Given the description of an element on the screen output the (x, y) to click on. 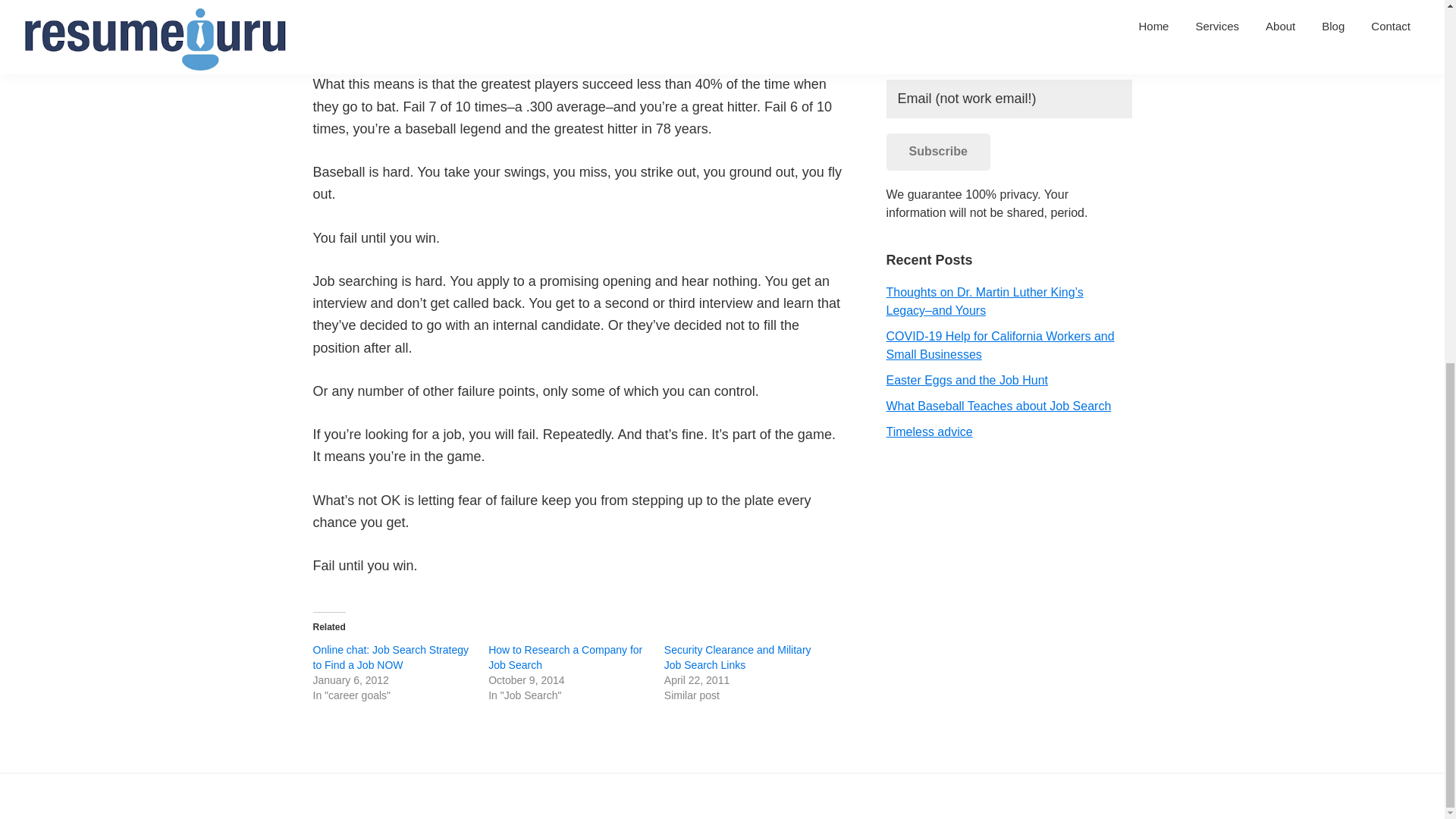
Subscribe (937, 151)
Easter Eggs and the Job Hunt (965, 379)
How to Research a Company for Job Search (564, 656)
Security Clearance and Military Job Search Links (736, 656)
How to Research a Company for Job Search (564, 656)
Online chat: Job Search Strategy to Find a Job NOW (390, 656)
COVID-19 Help for California Workers and Small Businesses (999, 345)
What Baseball Teaches about Job Search (997, 405)
Security Clearance and Military Job Search Links (736, 656)
Subscribe (937, 151)
Timeless advice (928, 431)
Online chat: Job Search Strategy to Find a Job NOW (390, 656)
